Given the description of an element on the screen output the (x, y) to click on. 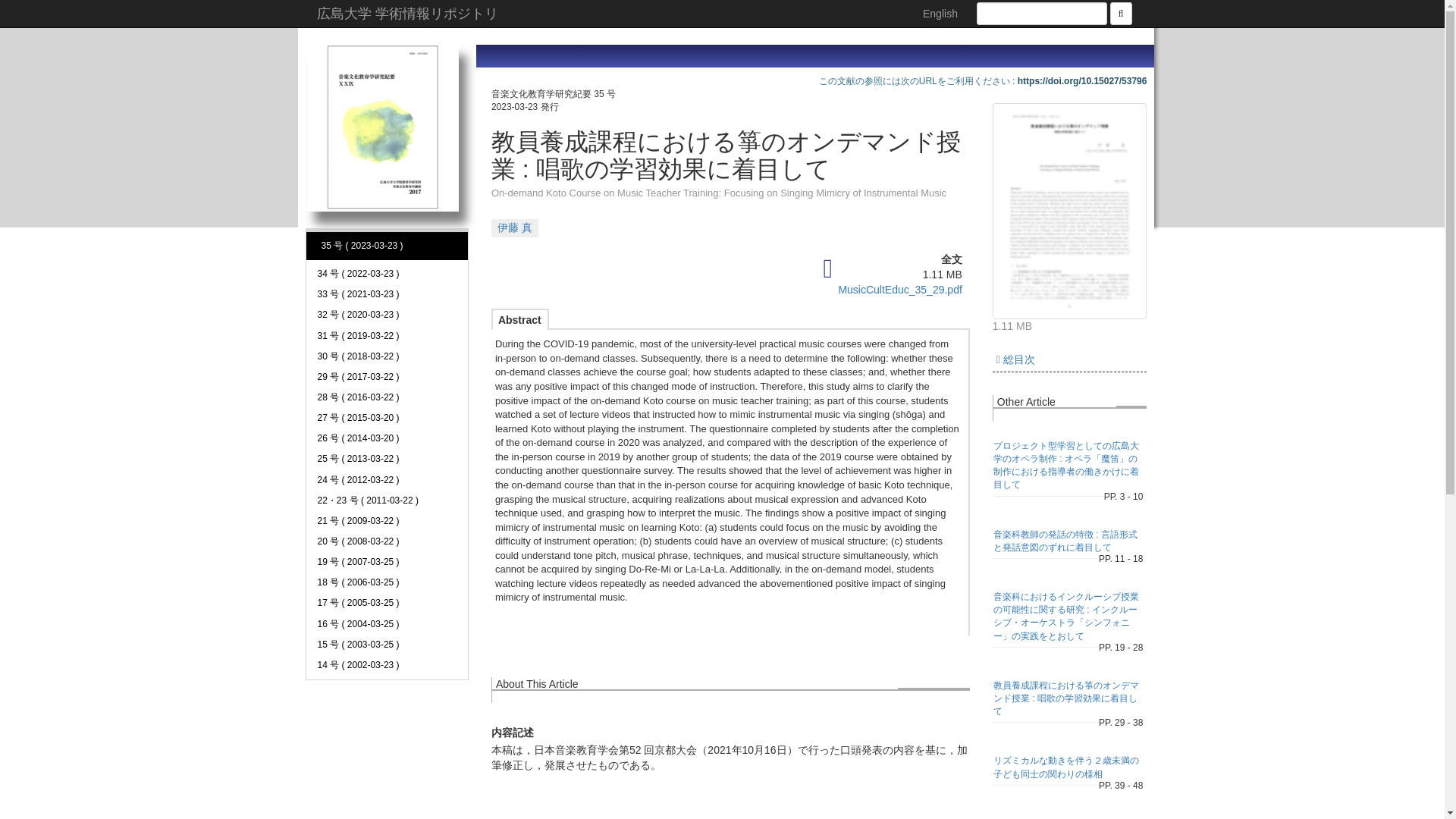
English (940, 13)
